Given the description of an element on the screen output the (x, y) to click on. 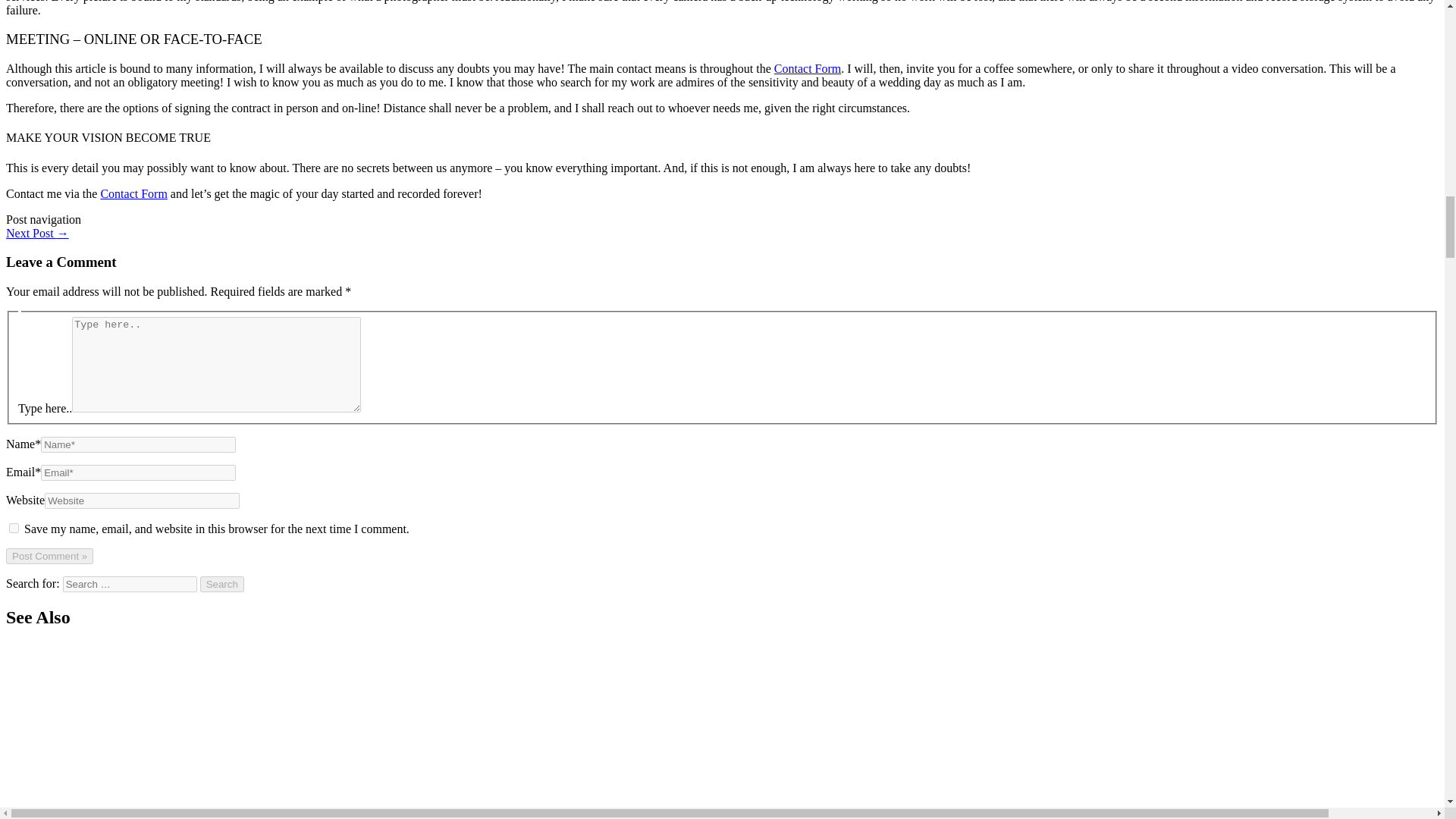
Search (222, 584)
Contact Form (807, 68)
Search (222, 584)
Wedding venues in Barnsley (36, 232)
Contact Form (133, 193)
yes (13, 528)
Search (222, 584)
